Given the description of an element on the screen output the (x, y) to click on. 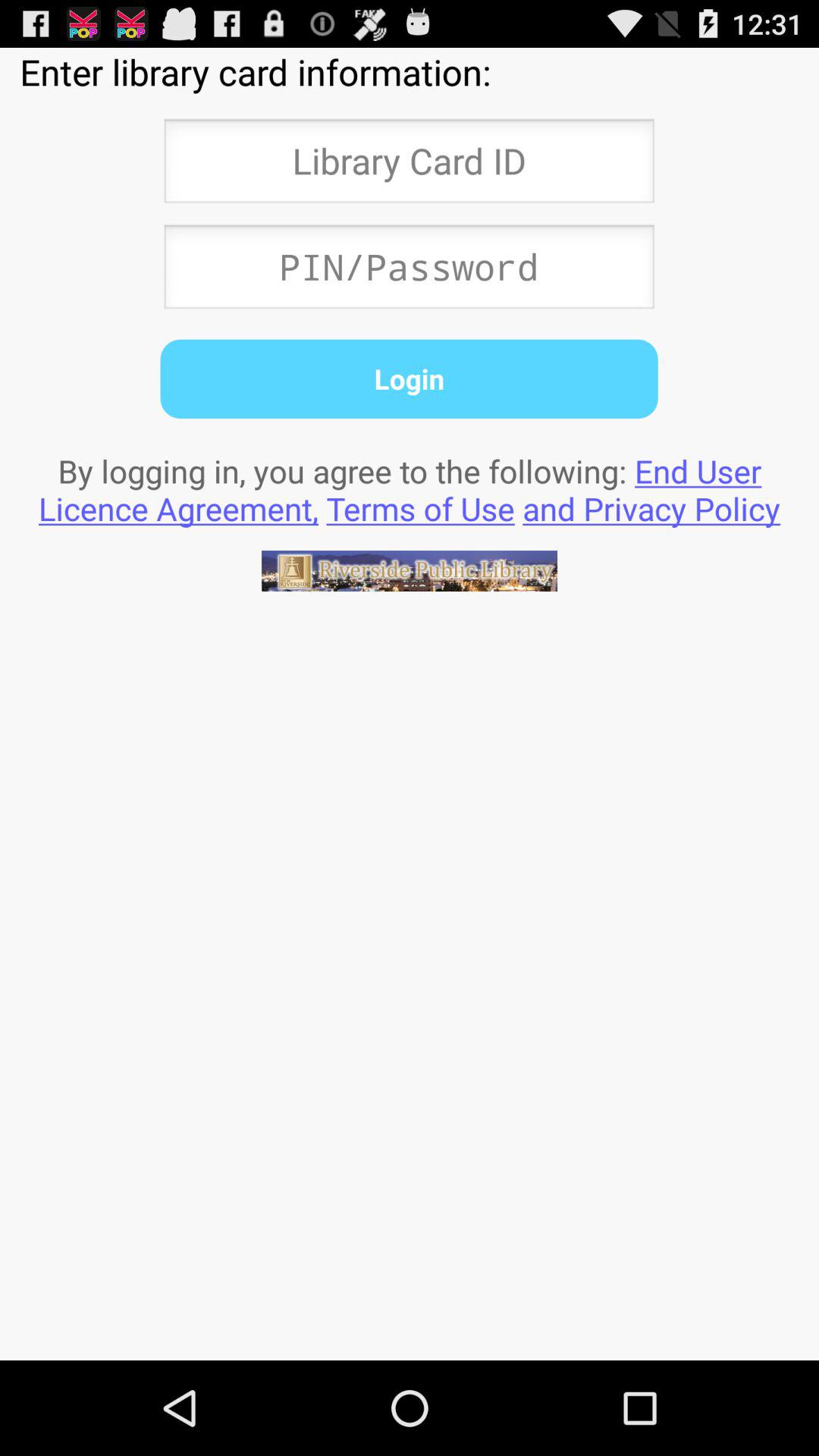
enter pin or password (409, 271)
